Given the description of an element on the screen output the (x, y) to click on. 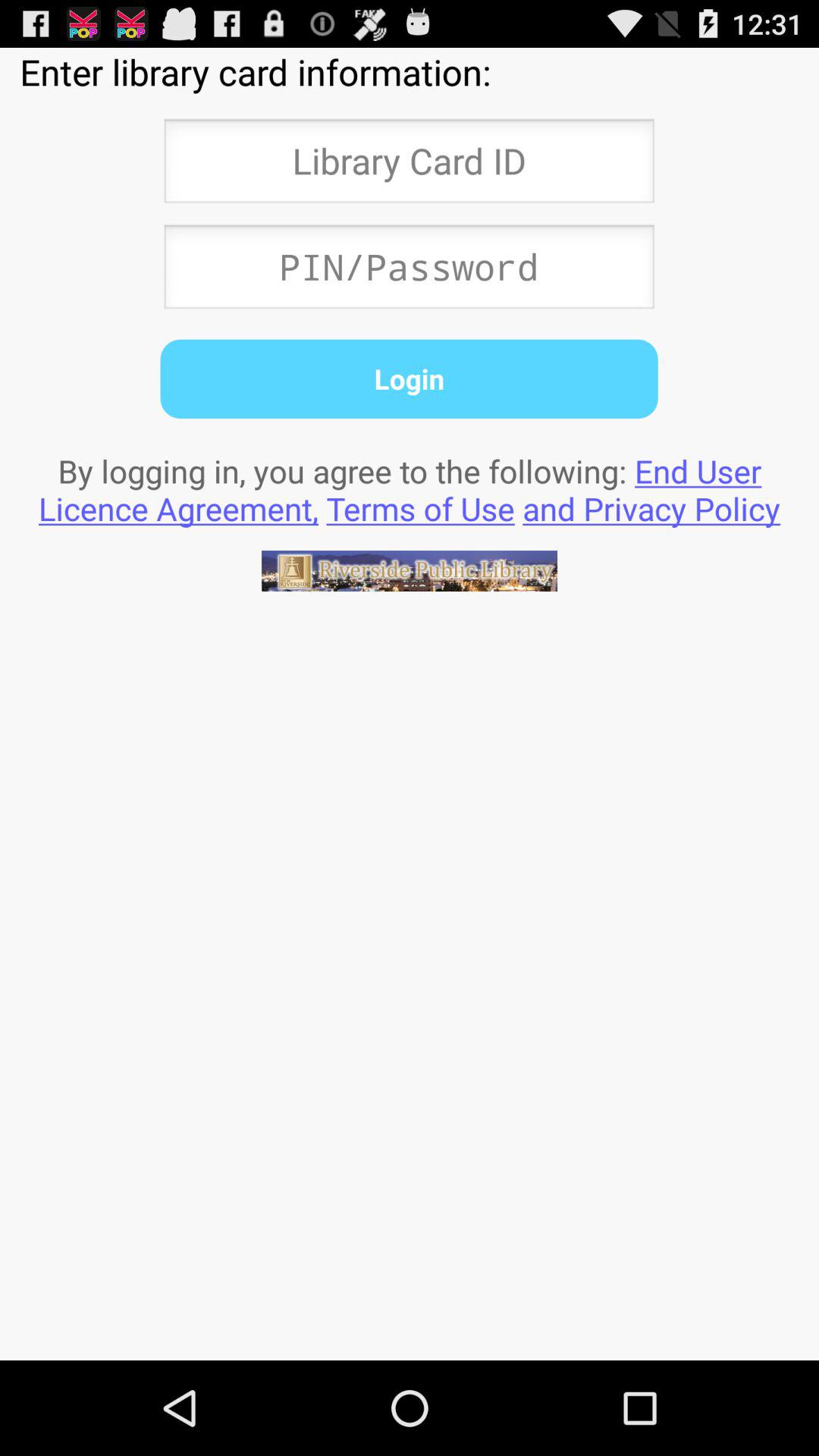
enter pin or password (409, 271)
